Given the description of an element on the screen output the (x, y) to click on. 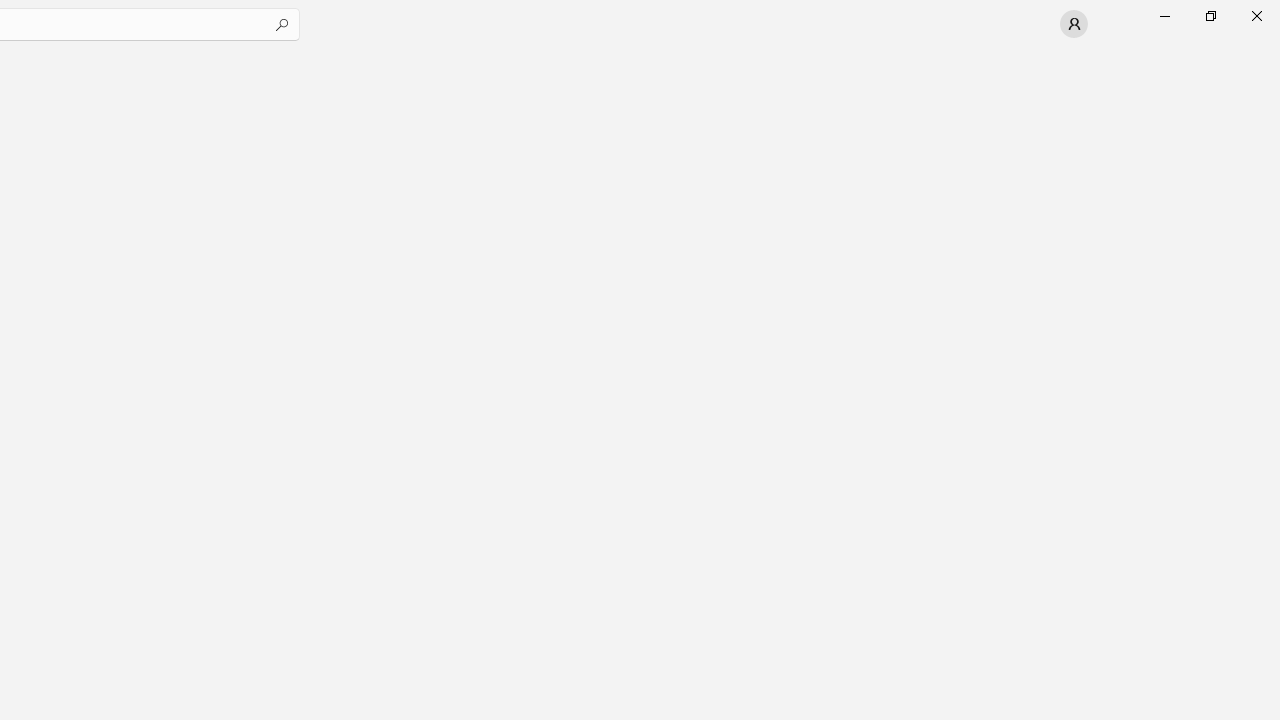
Restore Microsoft Store (1210, 15)
Close Microsoft Store (1256, 15)
User profile (1073, 24)
Minimize Microsoft Store (1164, 15)
